Given the description of an element on the screen output the (x, y) to click on. 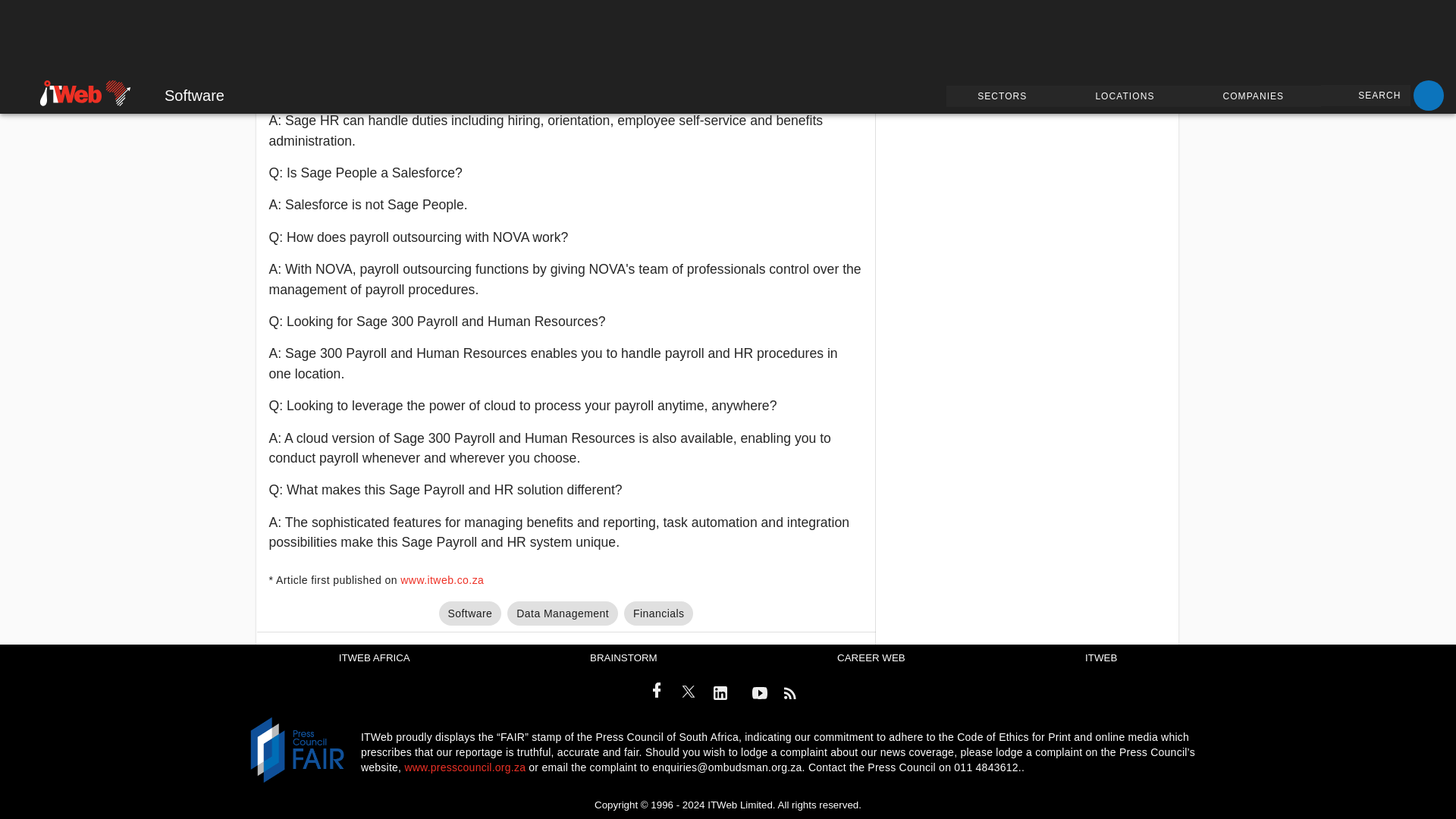
Linkedin icon (724, 693)
Data Management (561, 613)
RSS icon (794, 693)
ITWEB AFRICA (374, 657)
Financials (658, 613)
Software (470, 613)
CAREER WEB (871, 657)
Linkedin icon (720, 692)
www.presscouncil.org.za (464, 767)
BRAINSTORM (623, 657)
